Given the description of an element on the screen output the (x, y) to click on. 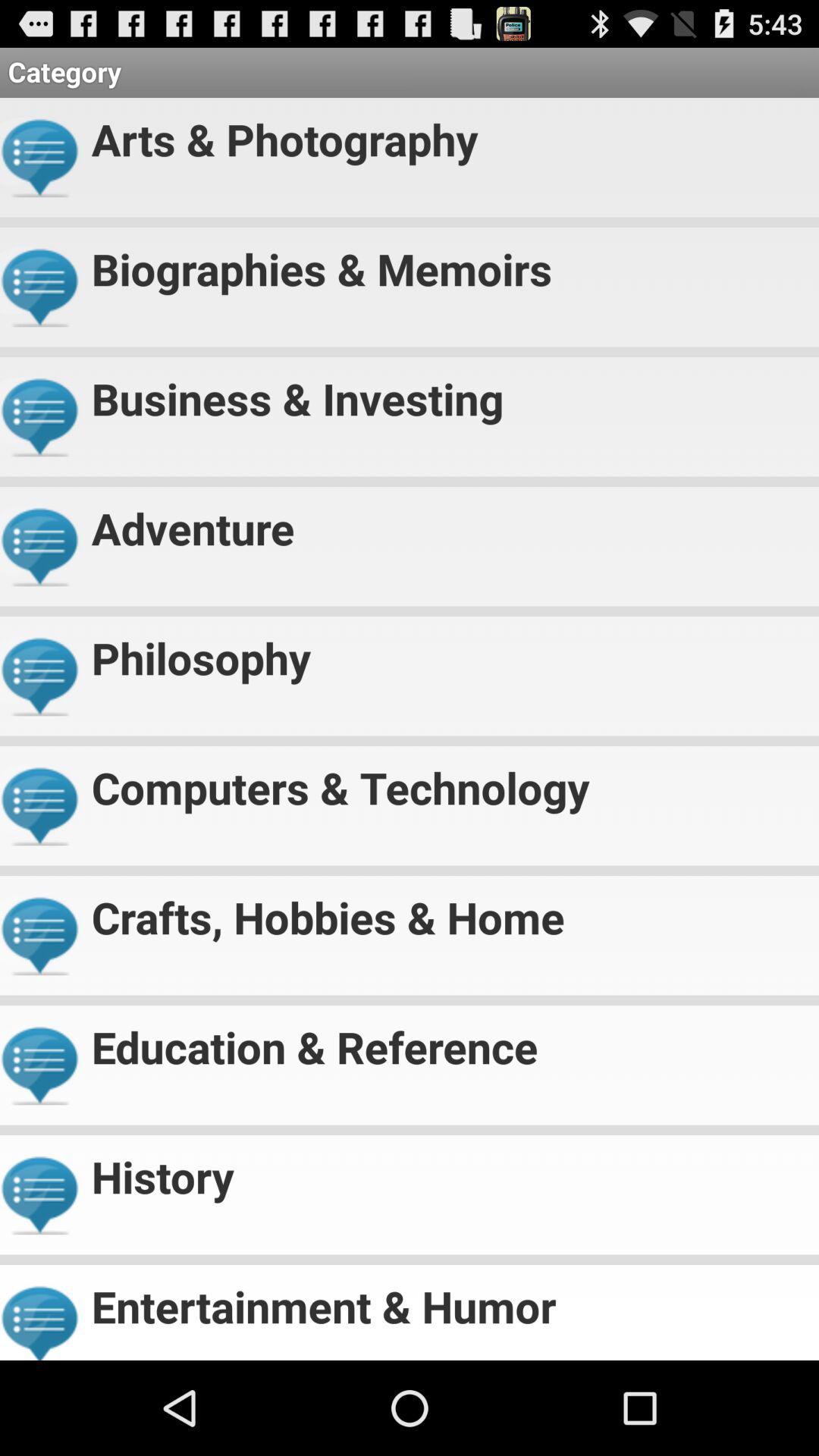
turn off app below the category app (449, 132)
